Given the description of an element on the screen output the (x, y) to click on. 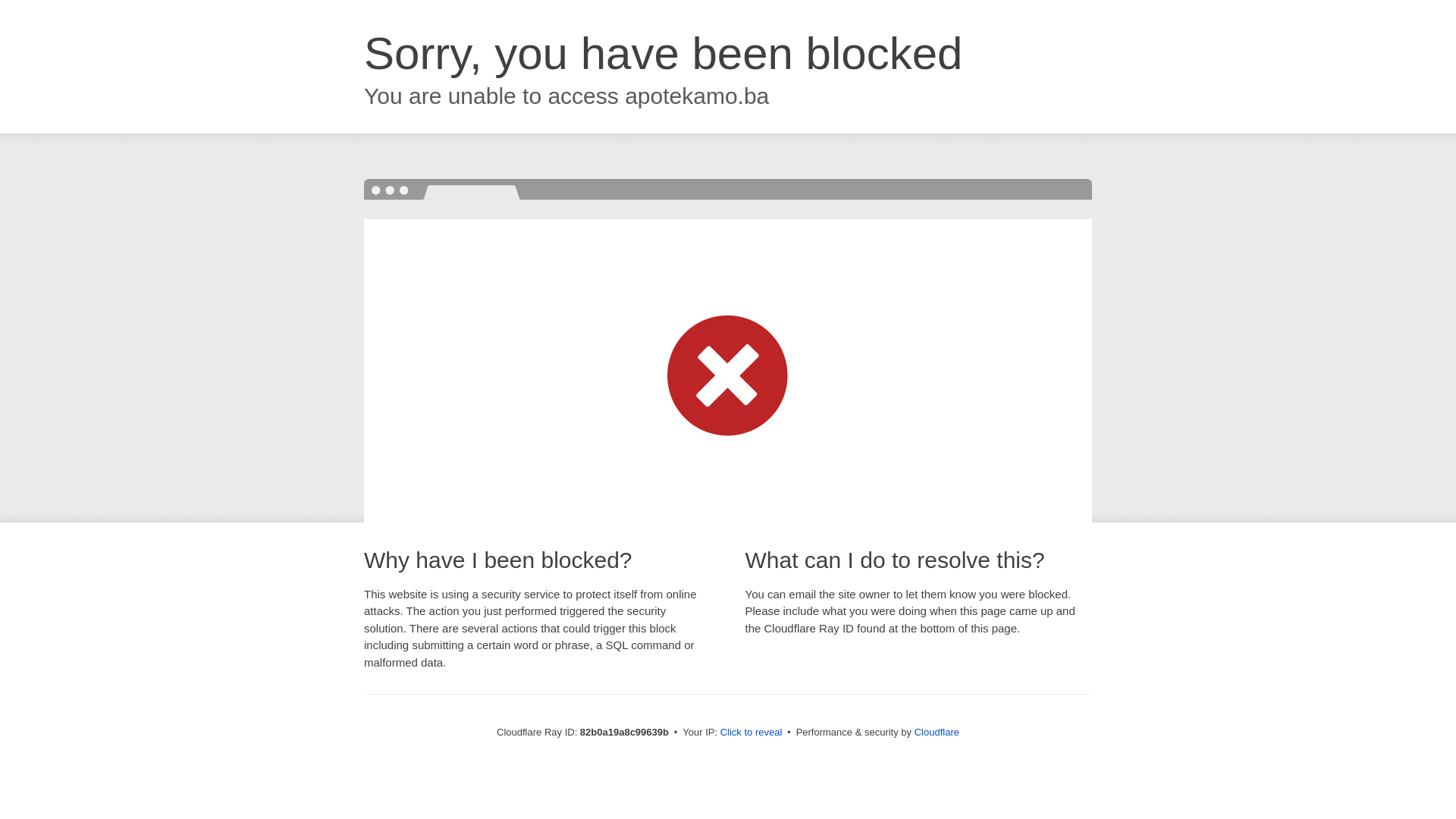
Cloudflare Element type: text (936, 731)
Click to reveal Element type: text (751, 732)
